Given the description of an element on the screen output the (x, y) to click on. 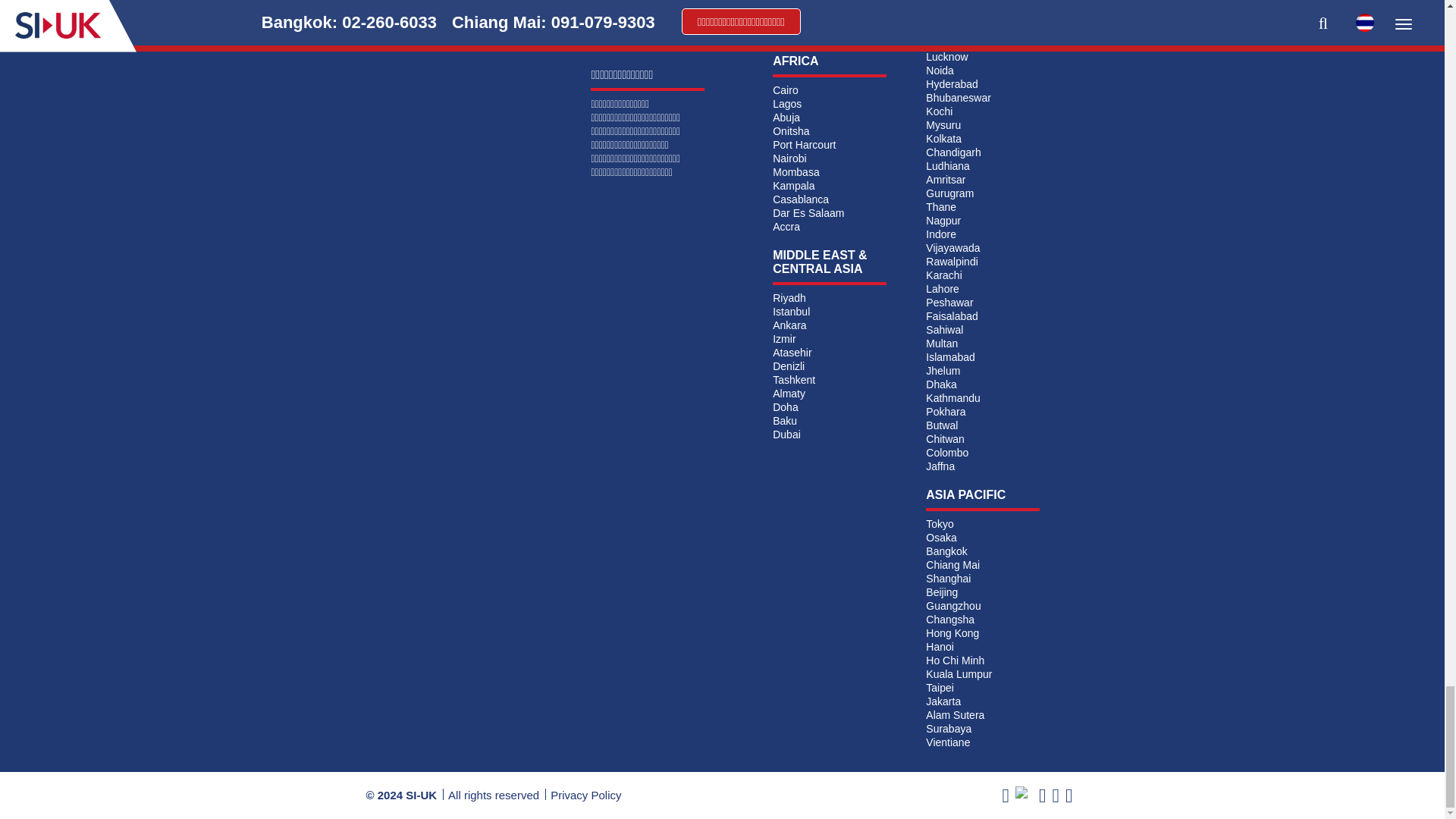
Linkedin (1042, 794)
